Given the description of an element on the screen output the (x, y) to click on. 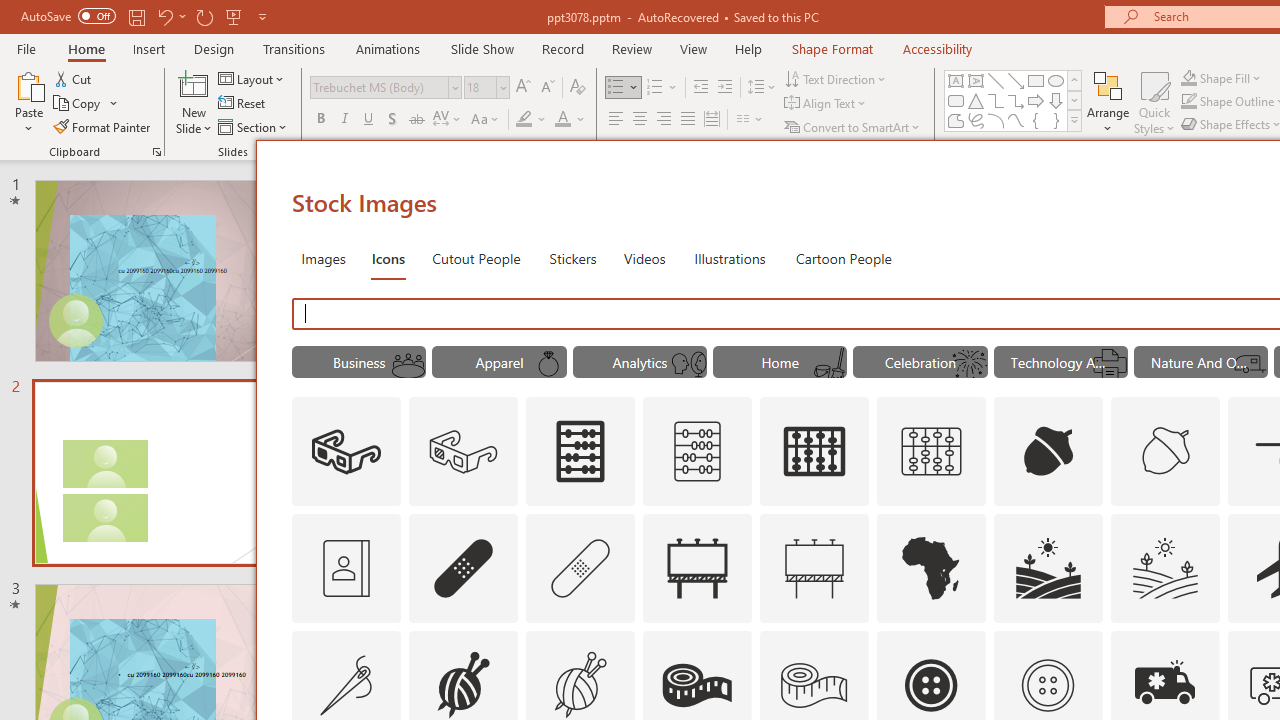
"Technology And Electronics" Icons. (1060, 362)
AutomationID: Icons_Meeting_M (408, 364)
